Given the description of an element on the screen output the (x, y) to click on. 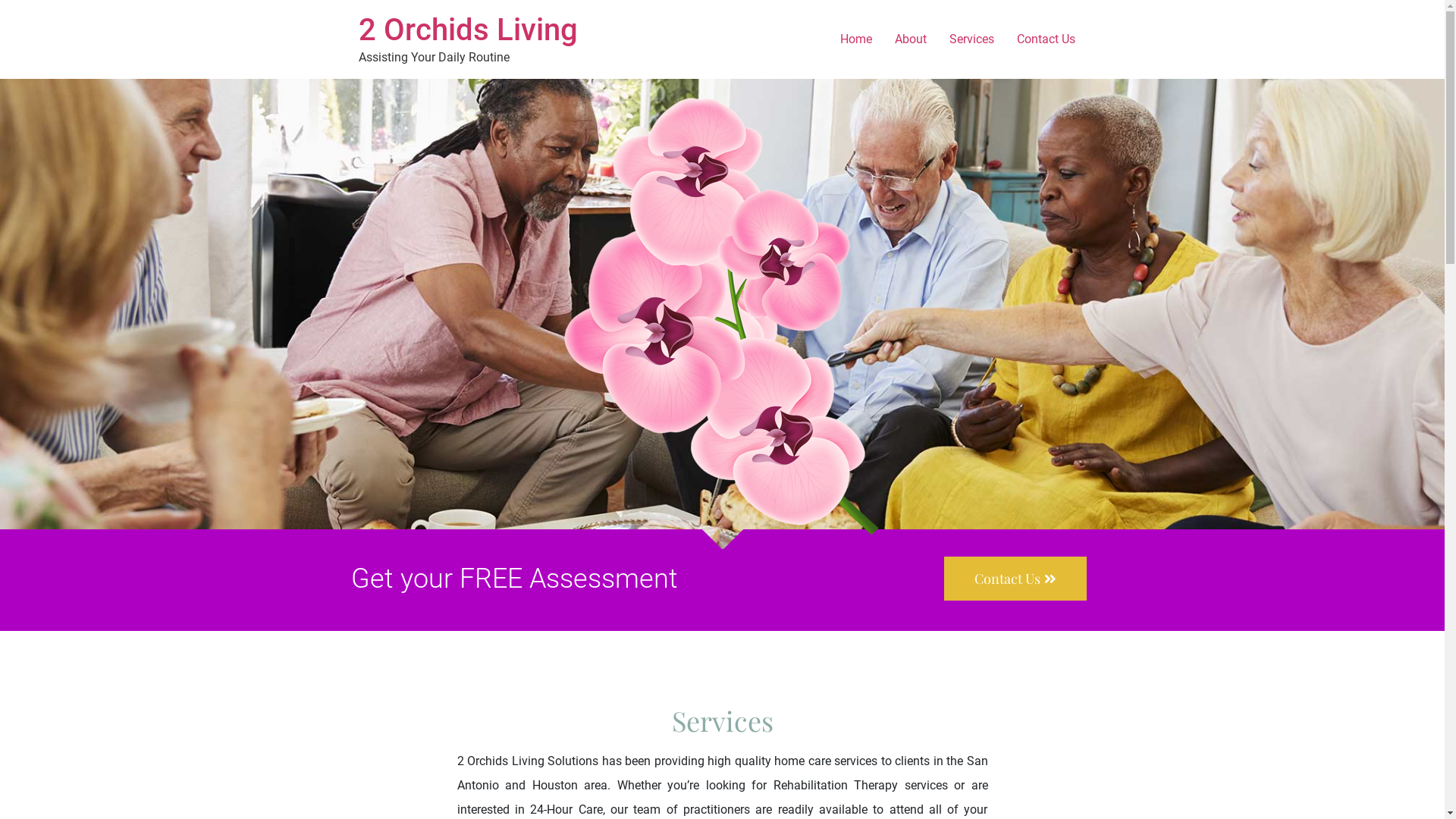
Contact Us Element type: text (1014, 578)
Home Element type: text (855, 39)
About Element type: text (909, 39)
Contact Us Element type: text (1045, 39)
Services Element type: text (970, 39)
2 Orchids Living Element type: text (467, 29)
